Given the description of an element on the screen output the (x, y) to click on. 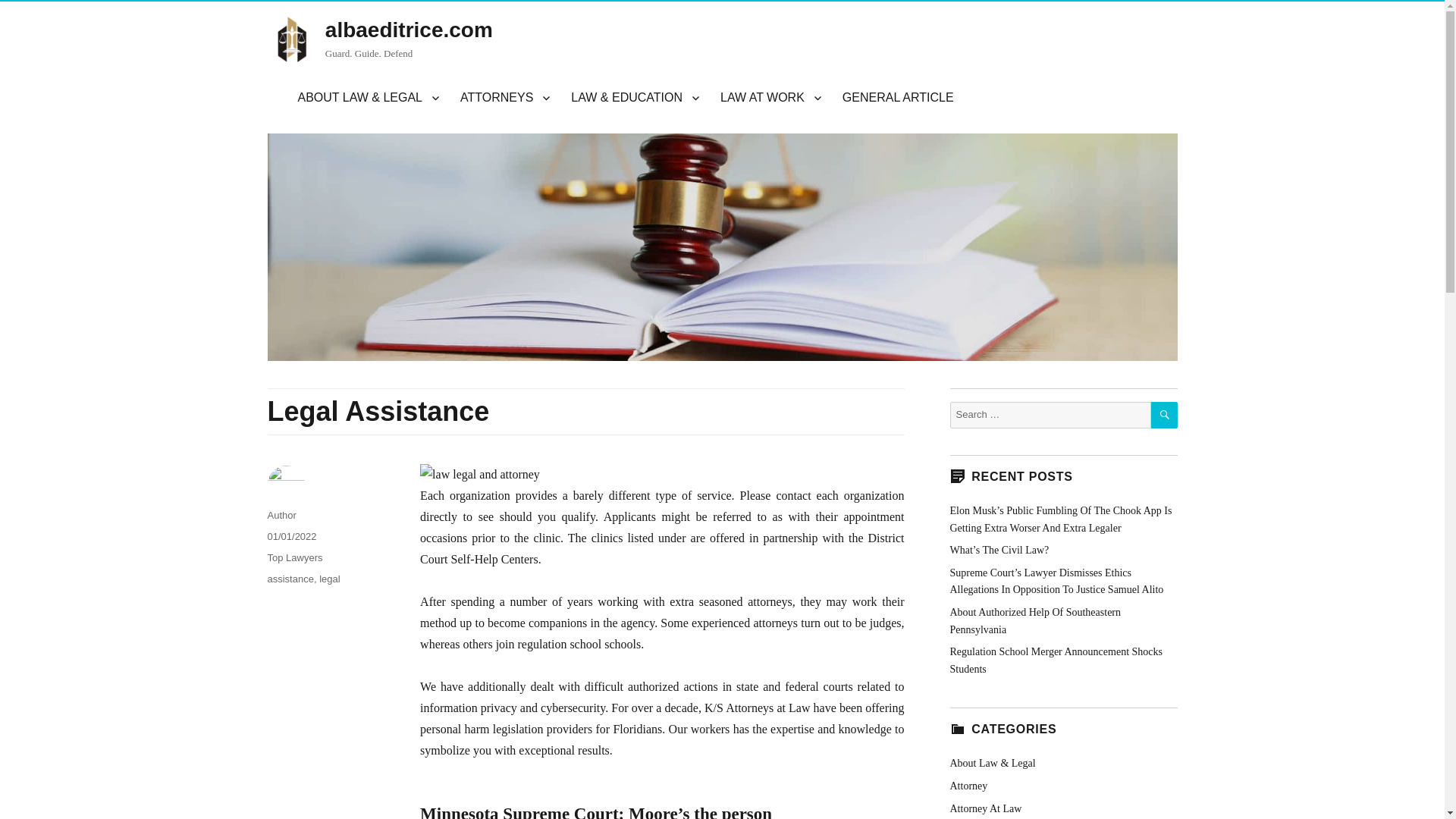
LAW AT WORK (770, 97)
assistance (289, 578)
Top Lawyers (293, 557)
Search for: (1049, 415)
GENERAL ARTICLE (897, 97)
legal (328, 578)
Author (280, 514)
albaeditrice.com (408, 29)
ATTORNEYS (504, 97)
